Given the description of an element on the screen output the (x, y) to click on. 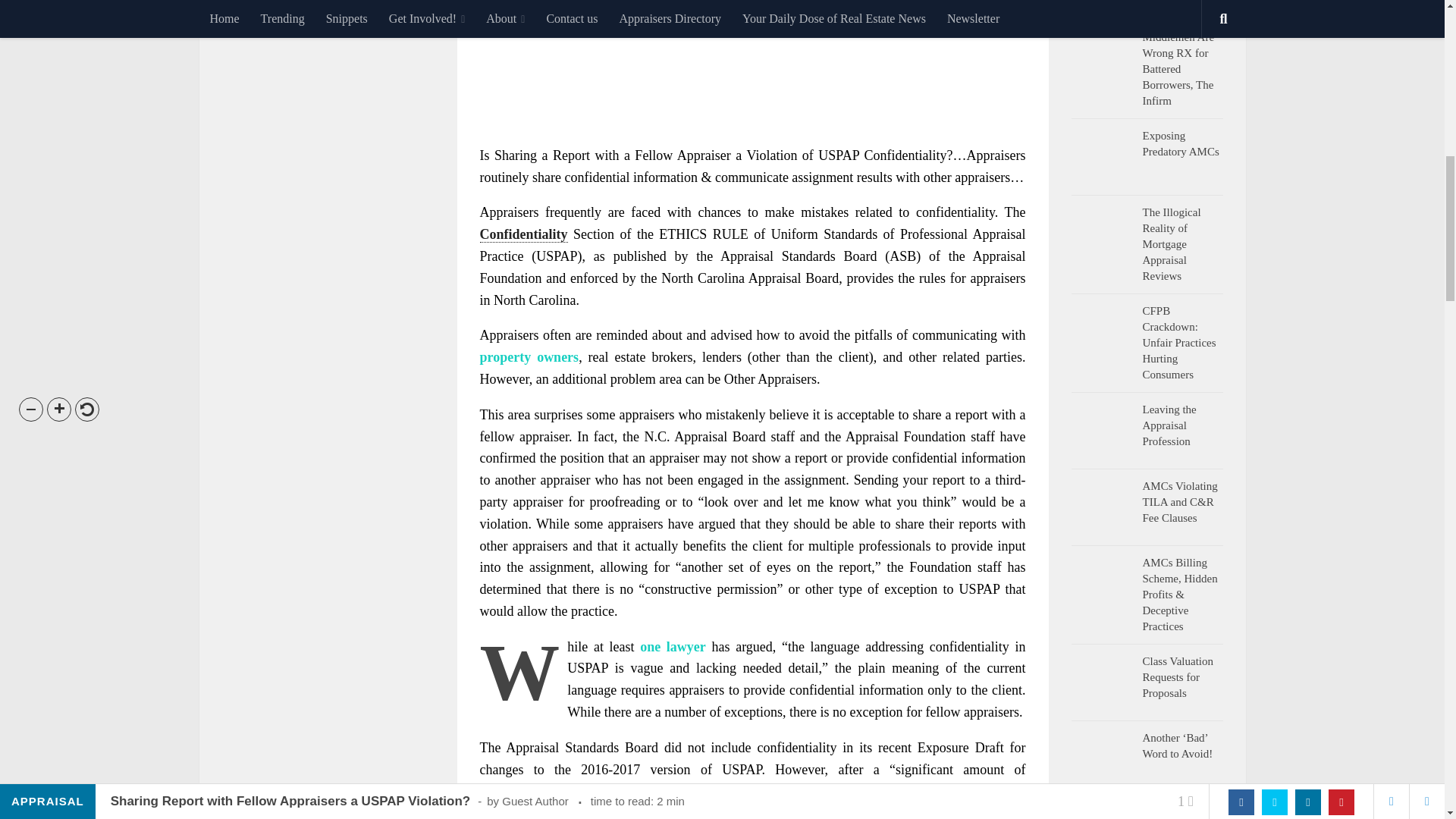
property owners (528, 356)
one lawyer (673, 646)
USPAP (838, 155)
